Given the description of an element on the screen output the (x, y) to click on. 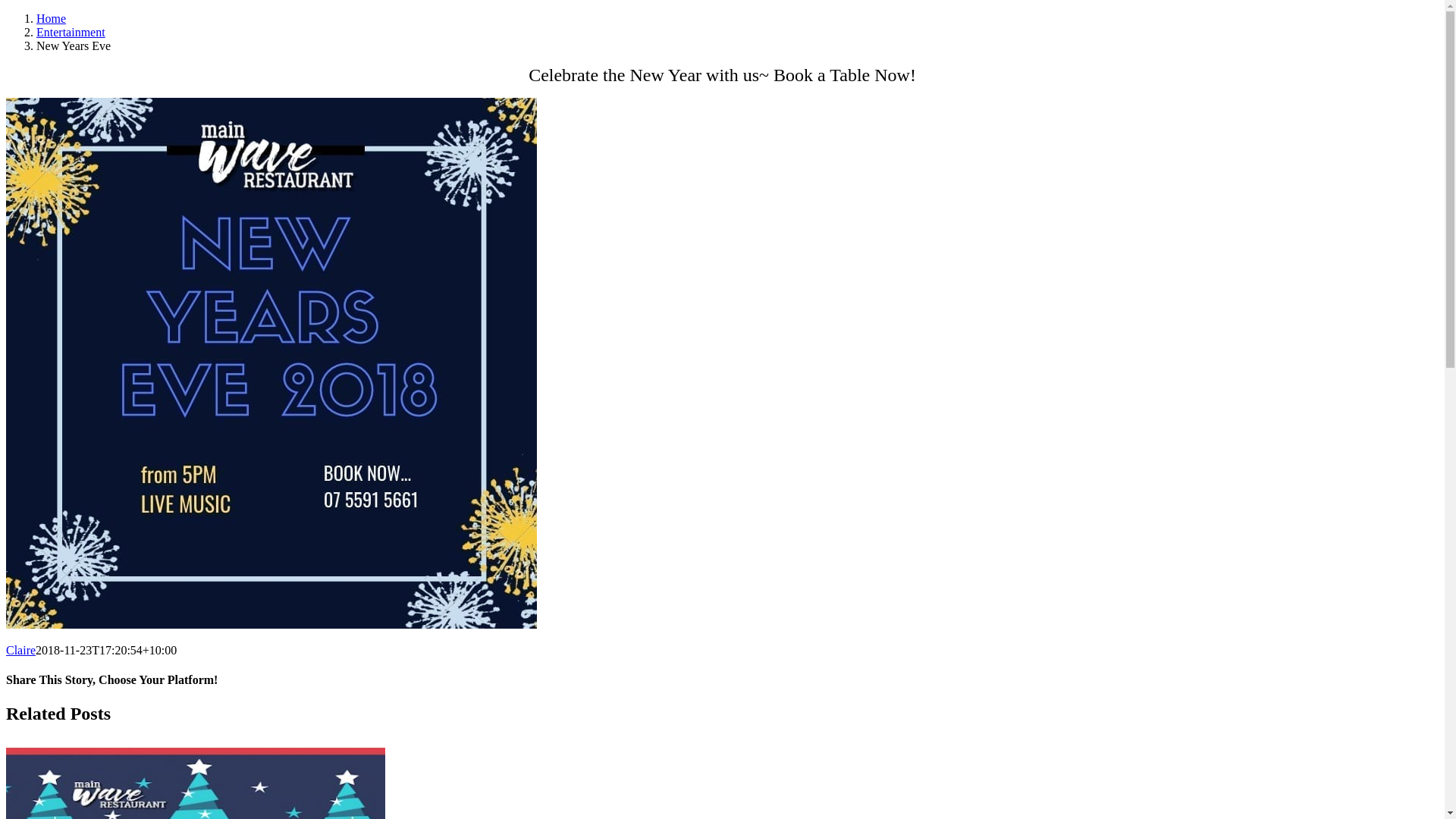
Skip to content Element type: text (5, 11)
Home Element type: text (50, 18)
Entertainment Element type: text (70, 31)
Claire Element type: text (20, 649)
